Given the description of an element on the screen output the (x, y) to click on. 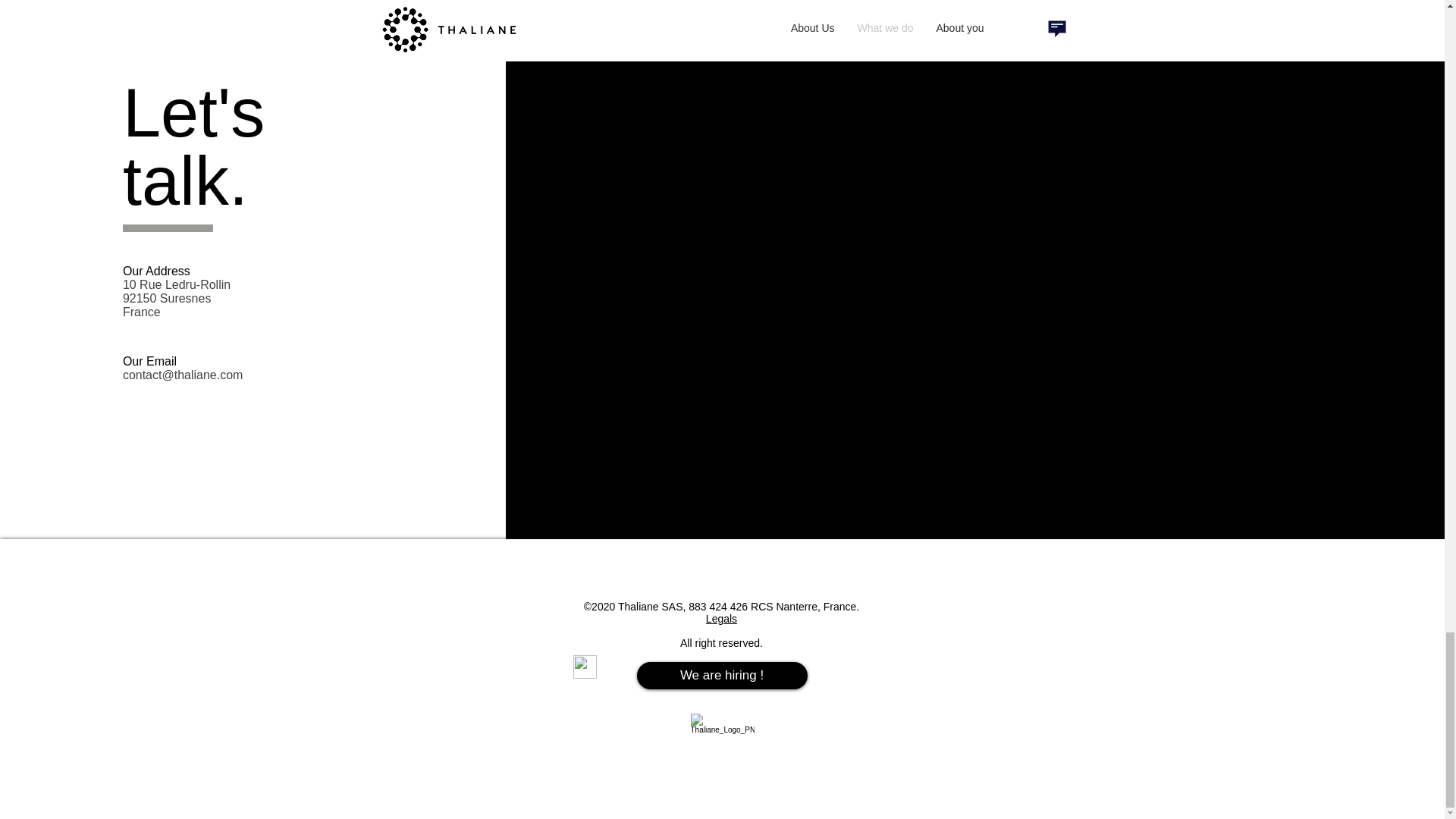
We are hiring ! (722, 675)
Legals (721, 618)
